Given the description of an element on the screen output the (x, y) to click on. 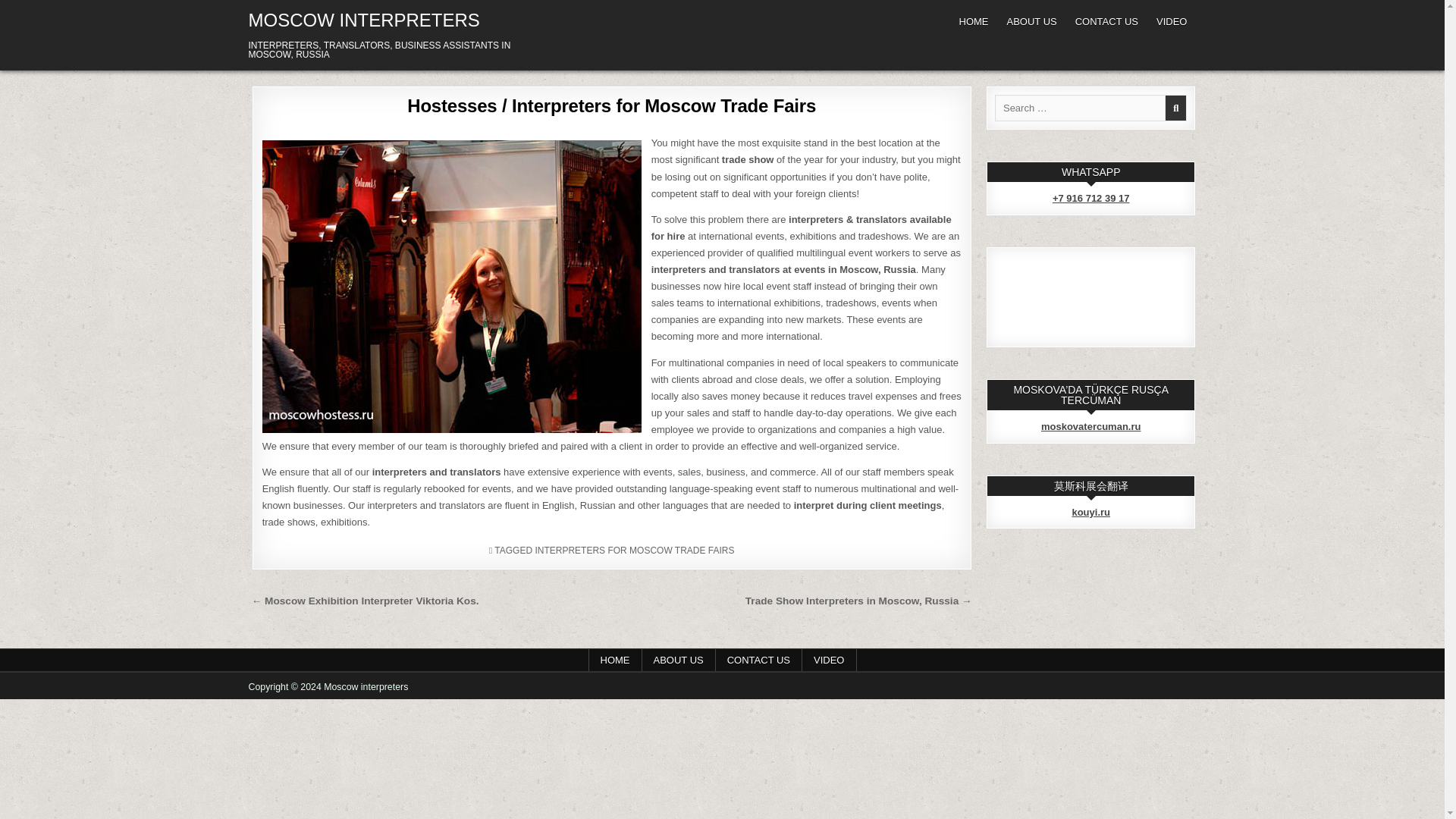
VIDEO (1171, 21)
HOME (973, 21)
MOSCOW INTERPRETERS (364, 19)
moskovatercuman.ru (1091, 426)
ABOUT US (678, 659)
HOME (615, 659)
VIDEO (829, 659)
CONTACT US (1106, 21)
kouyi.ru (1090, 511)
ABOUT US (1031, 21)
CONTACT US (759, 659)
INTERPRETERS FOR MOSCOW TRADE FAIRS (633, 550)
